Given the description of an element on the screen output the (x, y) to click on. 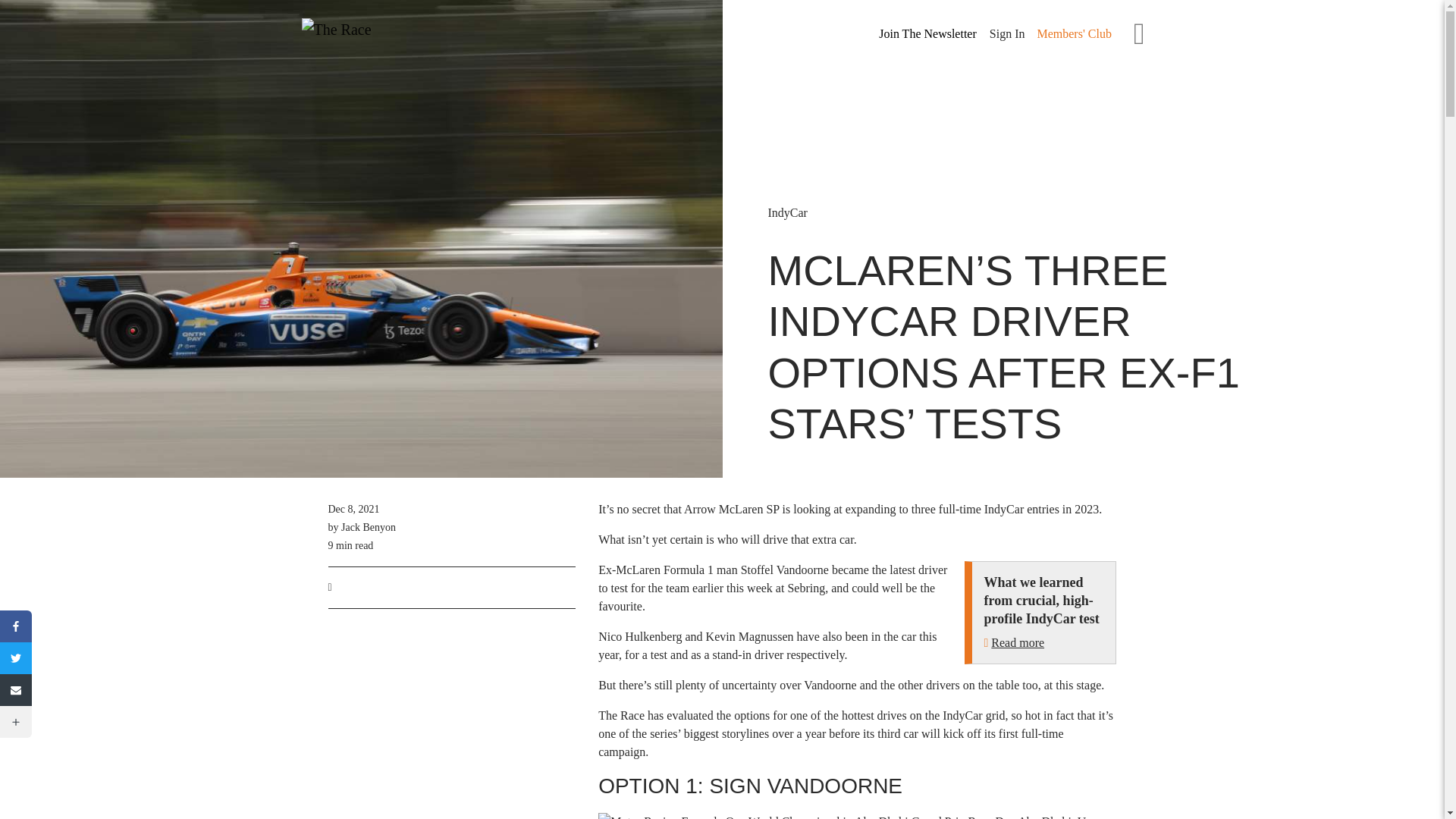
Read more (1017, 642)
Members' Club (1073, 33)
Join The Newsletter (926, 34)
Sign In (1007, 33)
